Given the description of an element on the screen output the (x, y) to click on. 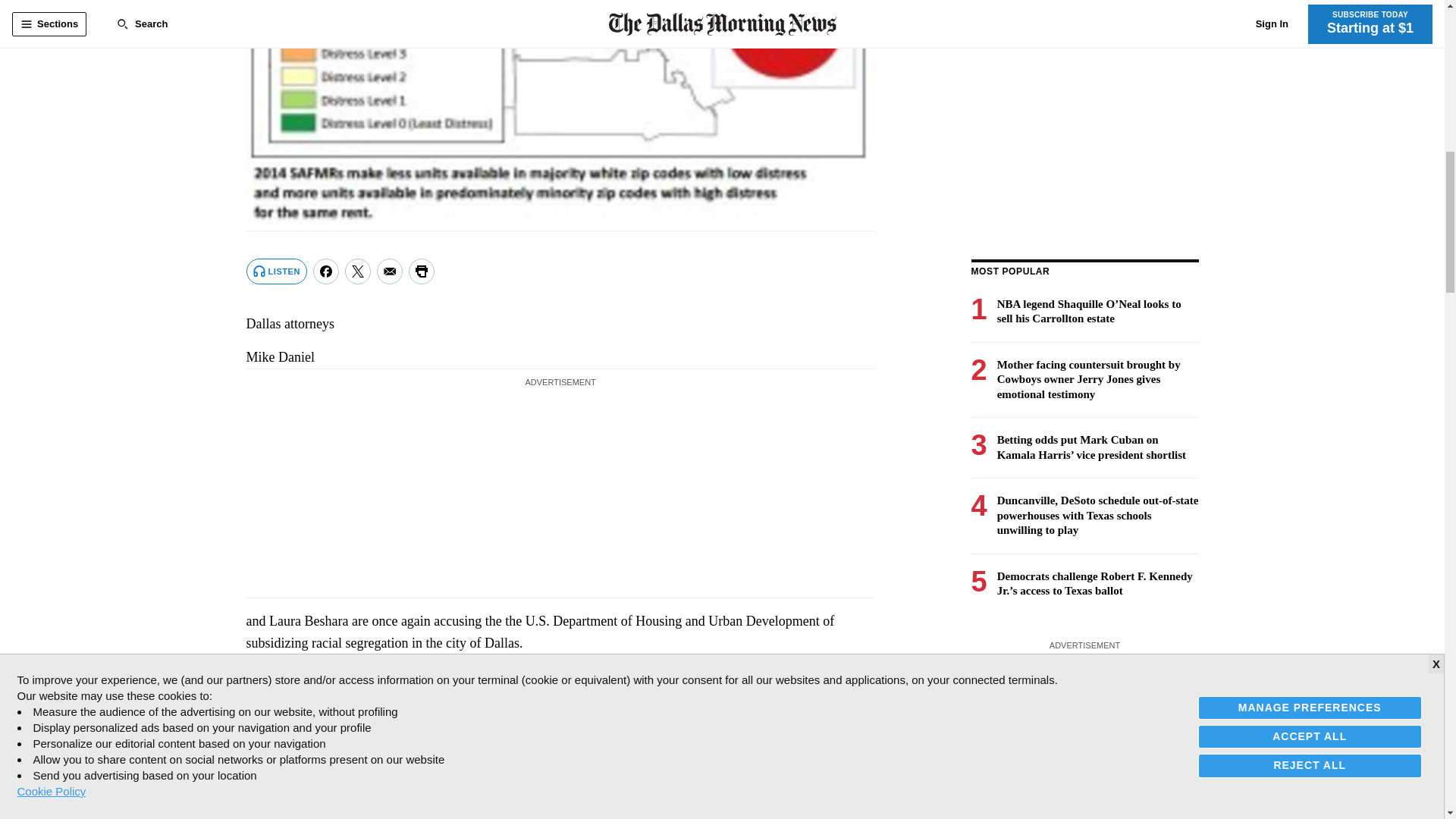
Share via Email (390, 271)
Share on Twitter (358, 271)
Share on Facebook (326, 271)
Print (421, 271)
